Given the description of an element on the screen output the (x, y) to click on. 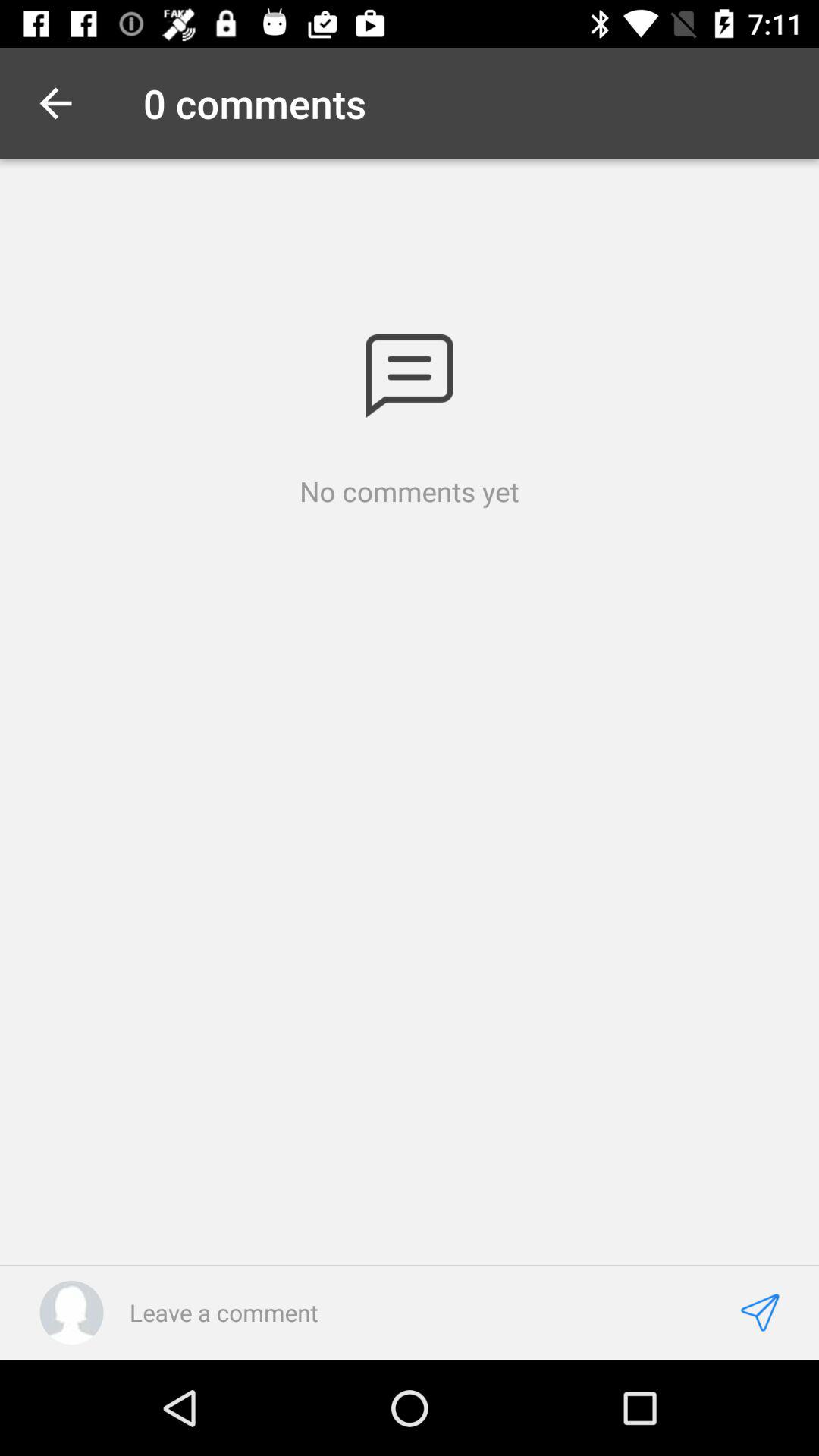
choose no comments yet at the center (409, 491)
